Given the description of an element on the screen output the (x, y) to click on. 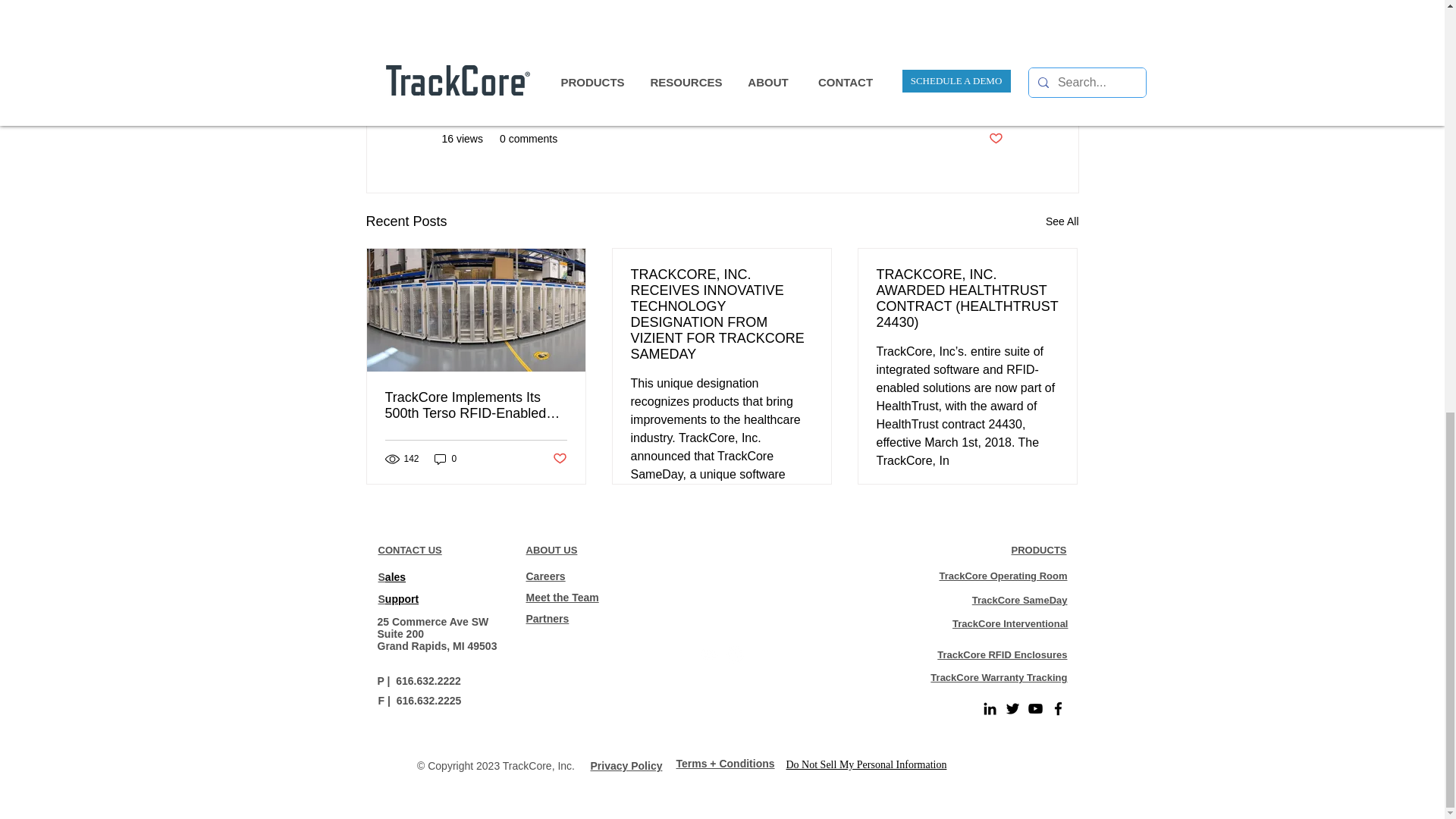
See All (1061, 221)
Post not marked as liked (558, 458)
TrackCore Implements Its 500th Terso RFID-Enabled Enclosure (476, 405)
Post not marked as liked (995, 139)
0 (445, 458)
